Given the description of an element on the screen output the (x, y) to click on. 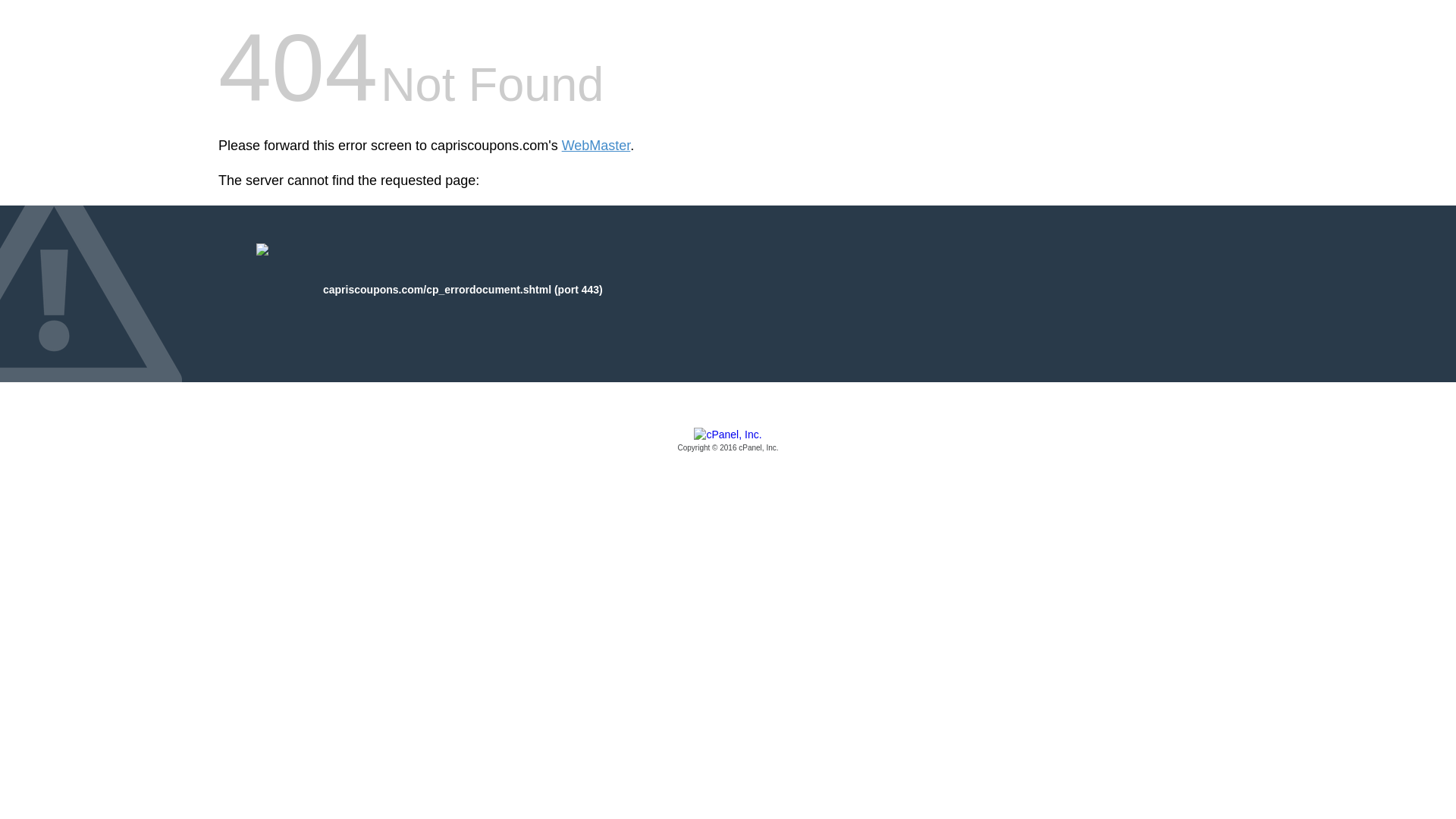
WebMaster (596, 145)
cPanel, Inc. (727, 440)
